Given the description of an element on the screen output the (x, y) to click on. 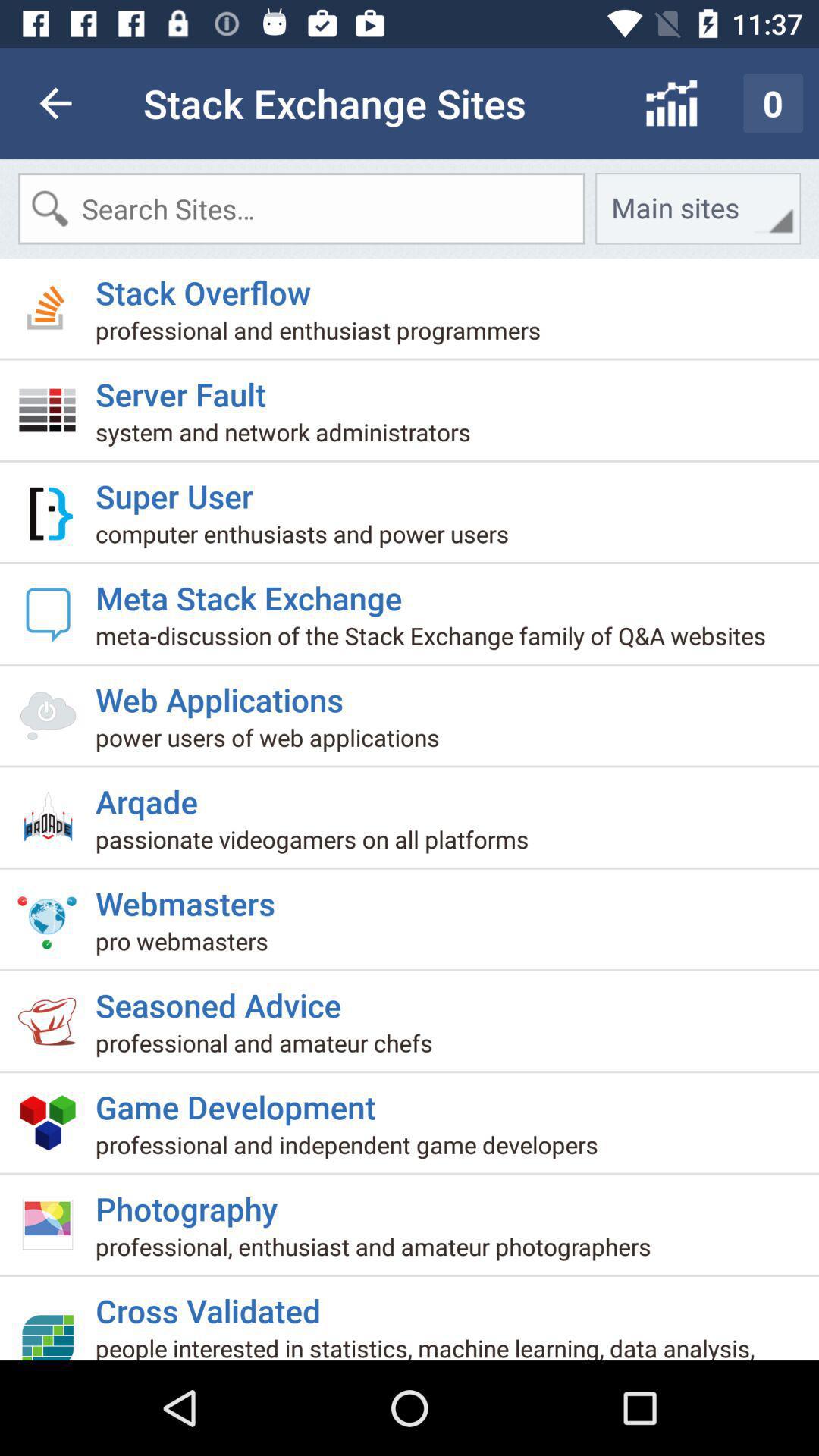
open item below the professional and enthusiast (186, 387)
